Given the description of an element on the screen output the (x, y) to click on. 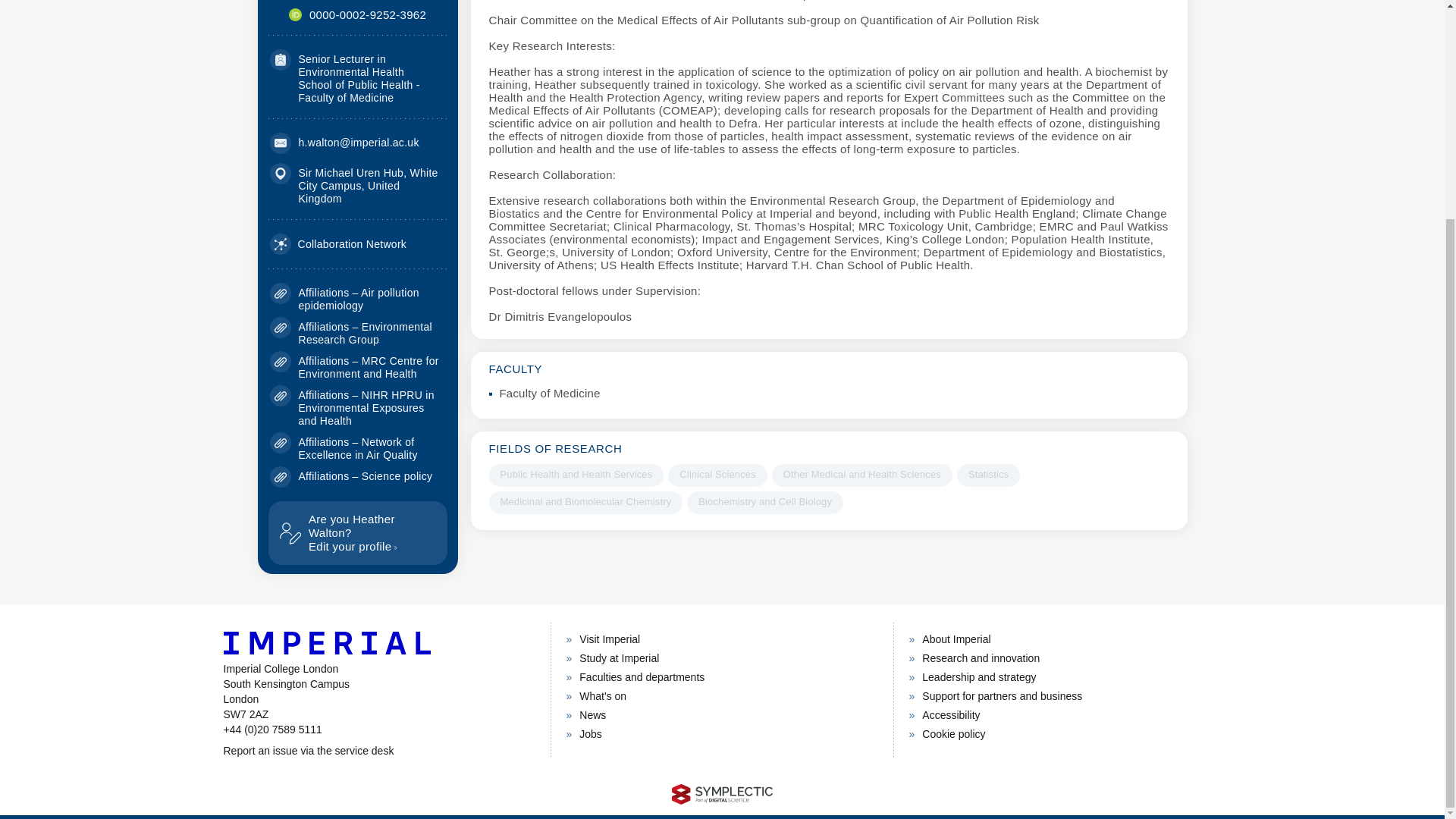
Symplectic, part of Digital Science (722, 793)
0000-0002-9252-3962 (367, 14)
Statistics (988, 475)
Biochemistry and Cell Biology (765, 502)
Collaboration Network (338, 243)
Other Medical and Health Sciences (861, 475)
Clinical Sciences (717, 475)
Report an issue via the service desk (378, 750)
Public Health and Health Services (575, 475)
Medicinal and Biomolecular Chemistry (584, 502)
Symplectic, part of Digital Science (356, 533)
